Given the description of an element on the screen output the (x, y) to click on. 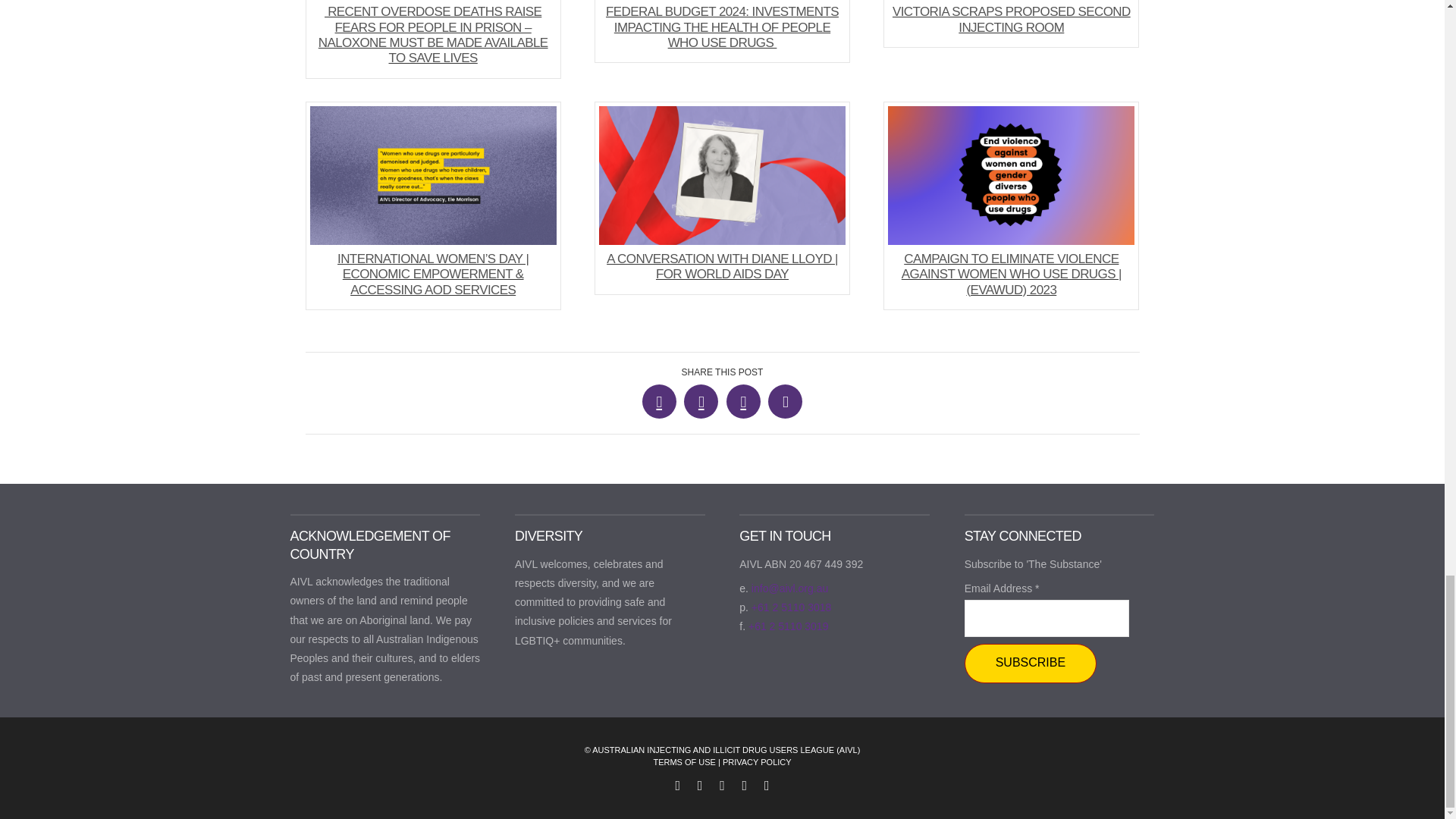
Subscribe (1029, 663)
VICTORIA SCRAPS PROPOSED SECOND INJECTING ROOM (1010, 23)
